Given the description of an element on the screen output the (x, y) to click on. 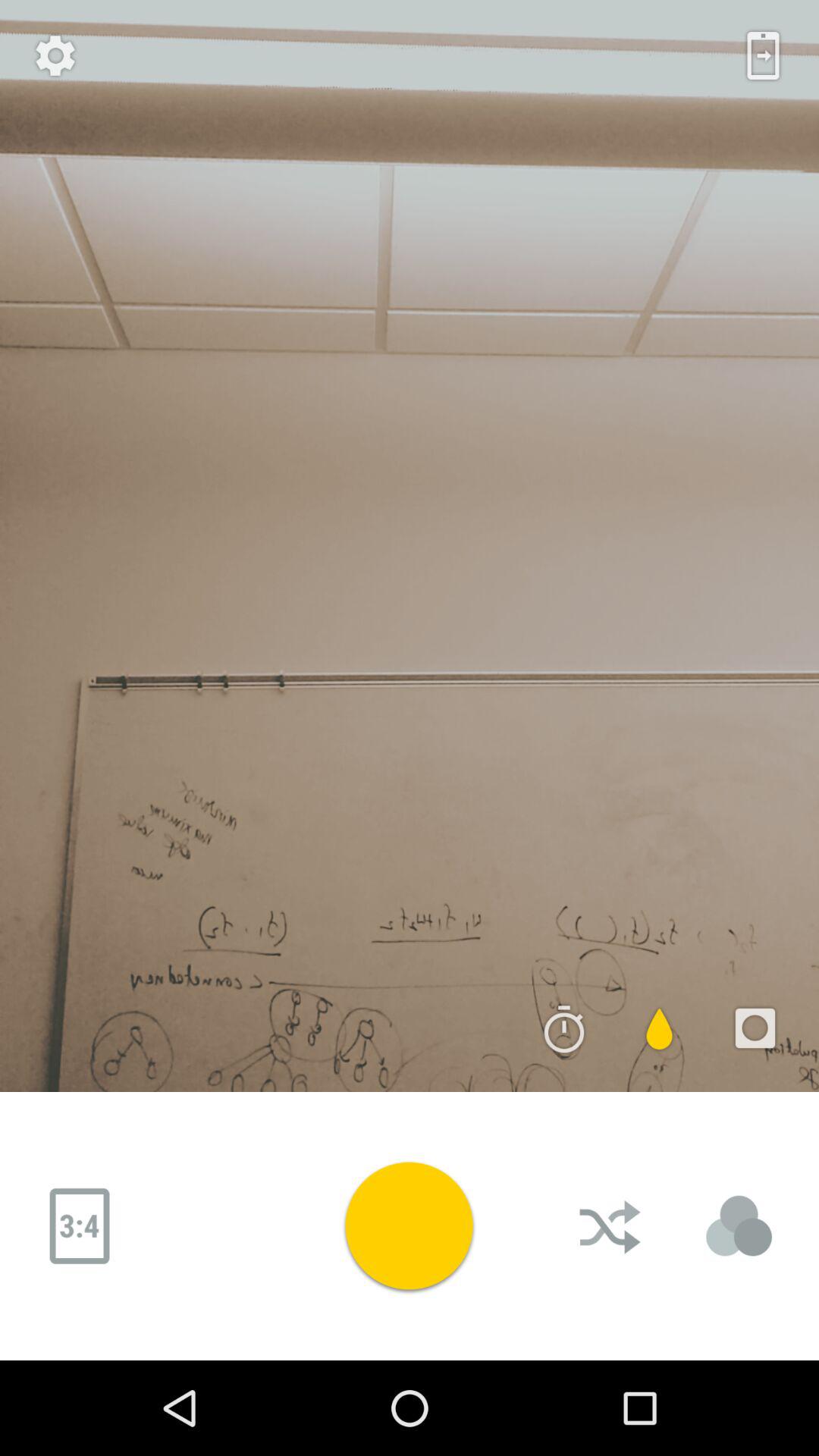
change format (79, 1226)
